Given the description of an element on the screen output the (x, y) to click on. 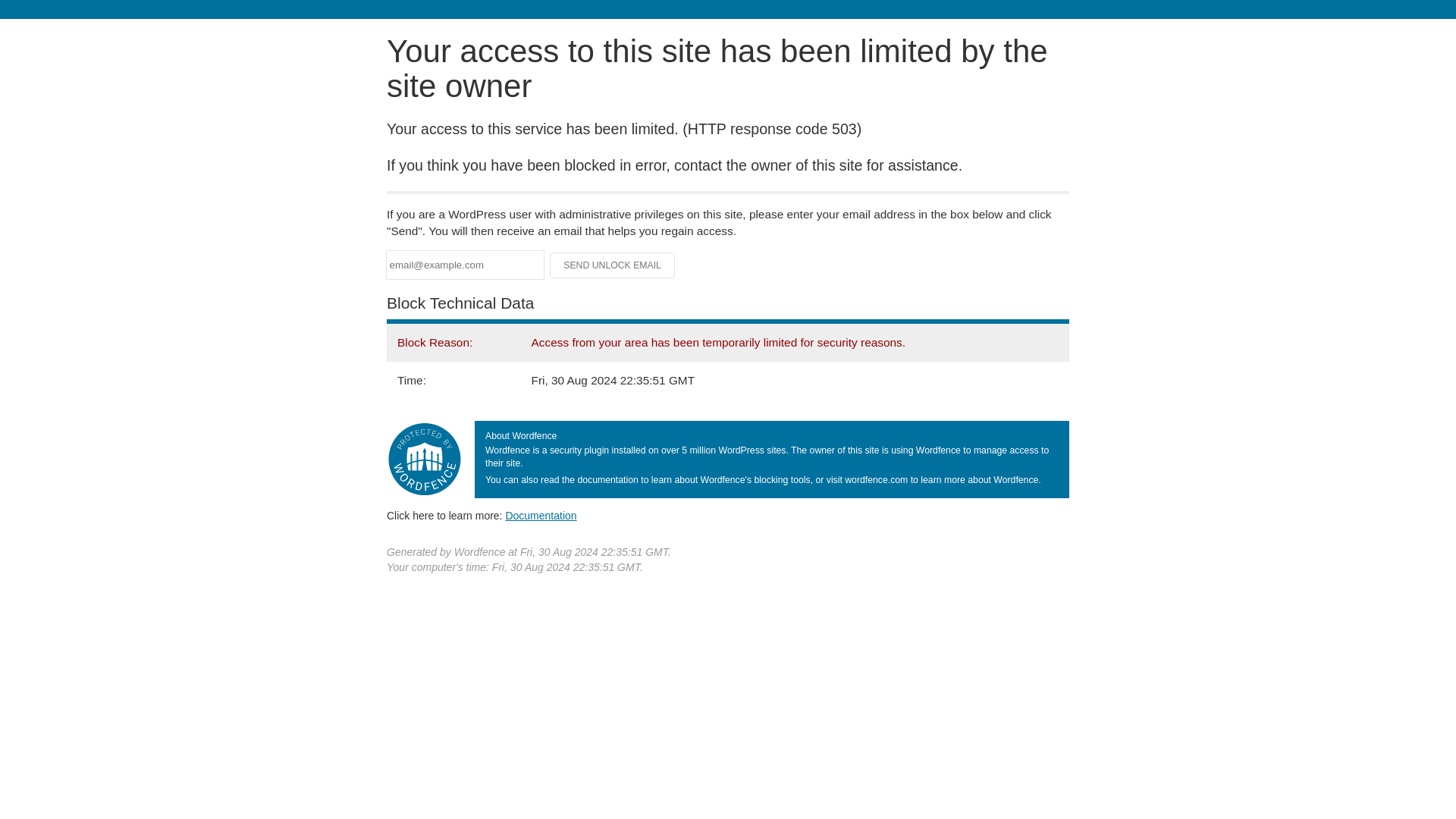
Send Unlock Email (612, 265)
Send Unlock Email (612, 265)
Documentation (540, 515)
